Given the description of an element on the screen output the (x, y) to click on. 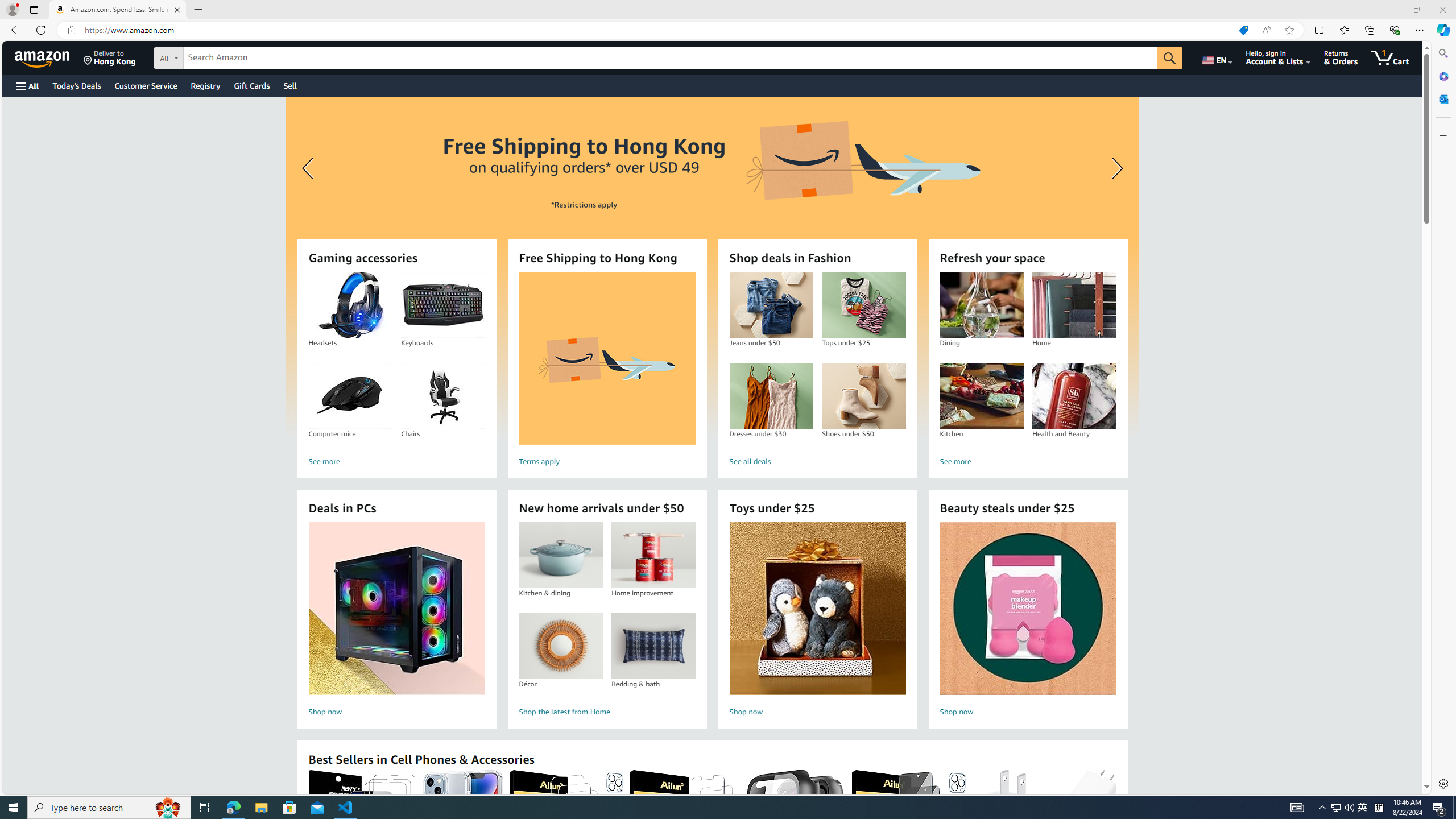
Kitchen & dining (560, 555)
Notification Chevron (1322, 807)
Toggle Replace (1140, 61)
Go (1169, 57)
Q2790: 100% (1349, 807)
Run and Debug (Ctrl+Shift+D) (13, 115)
1 item in cart (1389, 57)
Address and search bar (658, 29)
Use Regular Expression (Alt+R) (1265, 61)
